Given the description of an element on the screen output the (x, y) to click on. 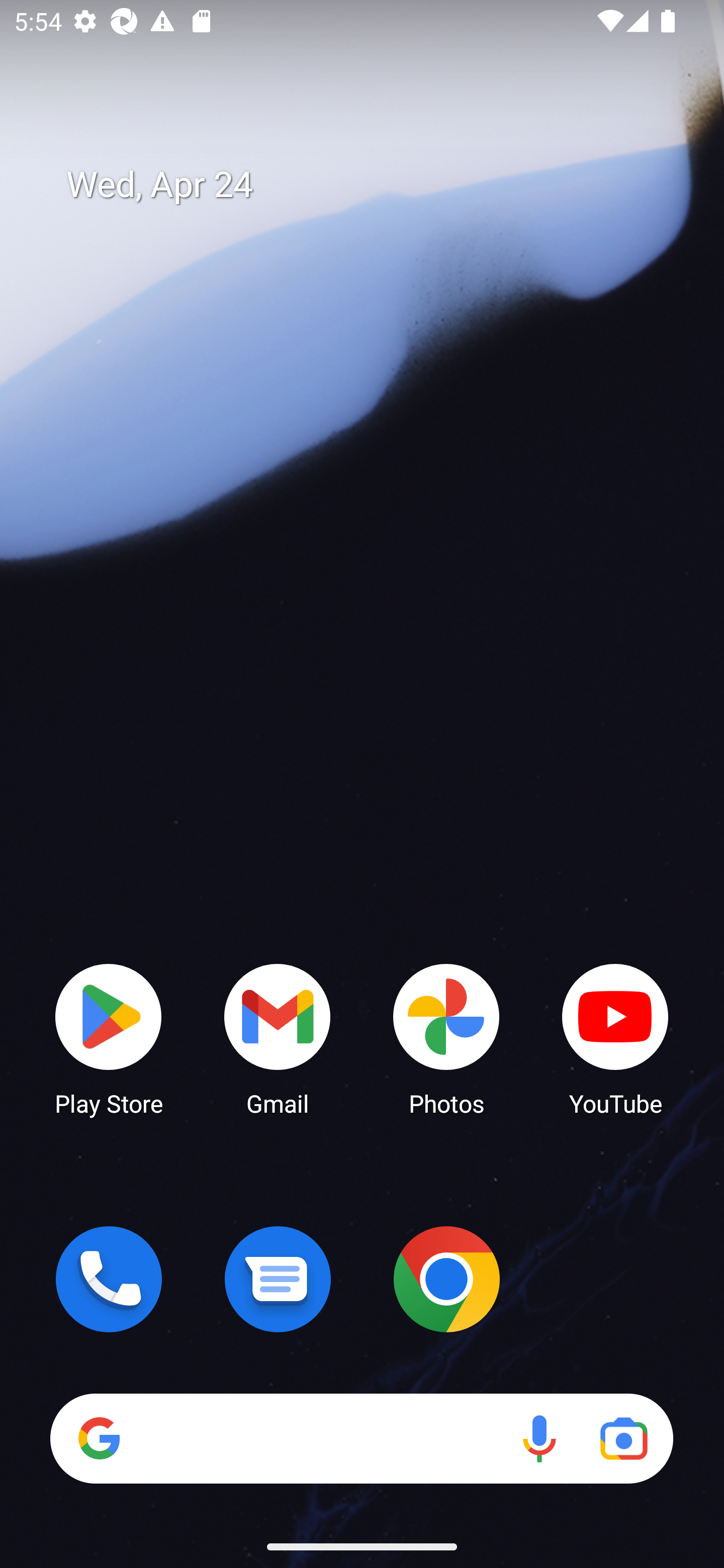
Wed, Apr 24 (375, 184)
Play Store (108, 1038)
Gmail (277, 1038)
Photos (445, 1038)
YouTube (615, 1038)
Phone (108, 1279)
Messages (277, 1279)
Chrome (446, 1279)
Search Voice search Google Lens (361, 1438)
Voice search (539, 1438)
Google Lens (623, 1438)
